Given the description of an element on the screen output the (x, y) to click on. 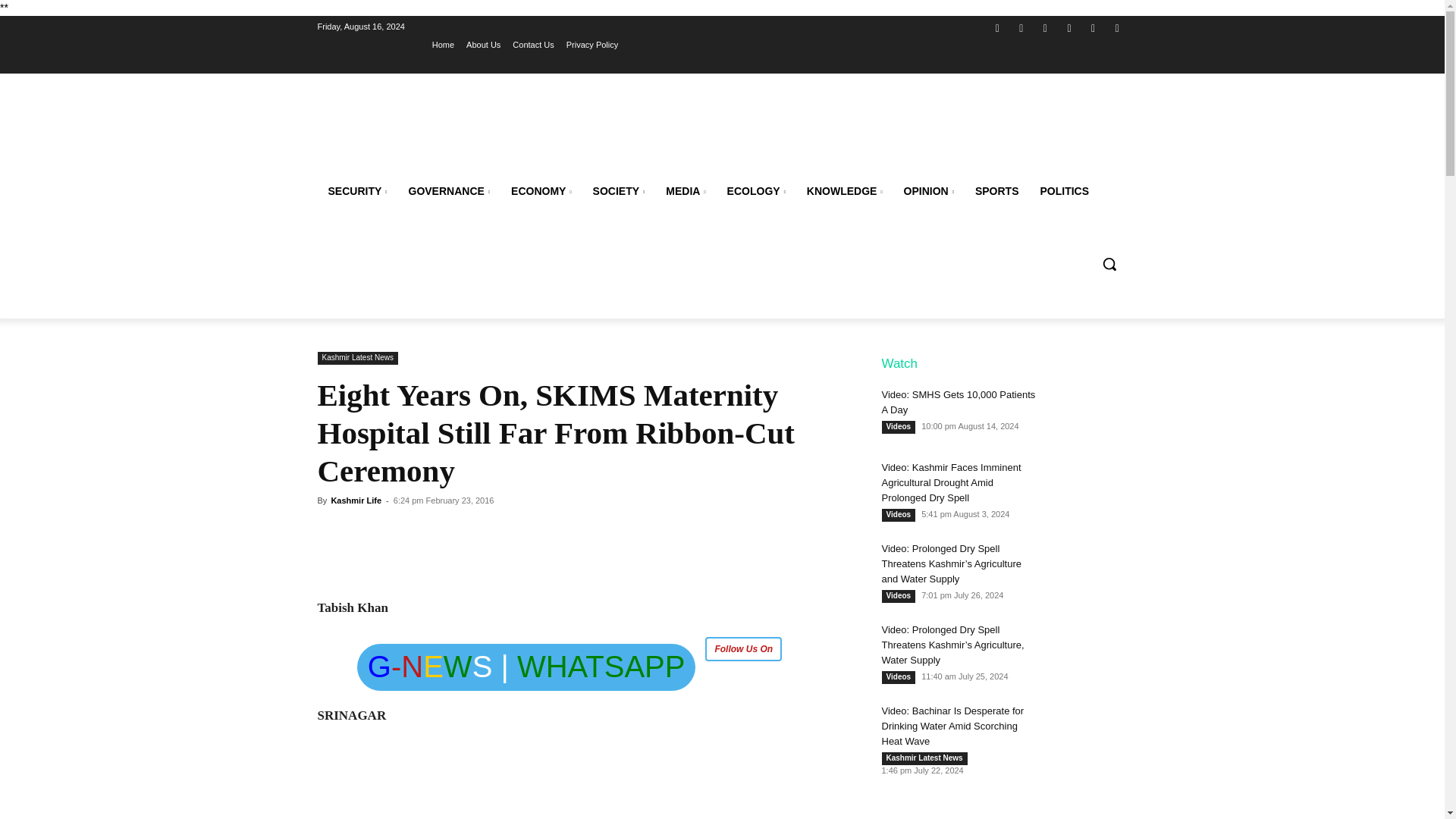
Youtube (1116, 28)
Instagram (1021, 28)
Twitter (1045, 28)
Website (1069, 28)
Facebook (997, 28)
WhatsApp (1093, 28)
